Given the description of an element on the screen output the (x, y) to click on. 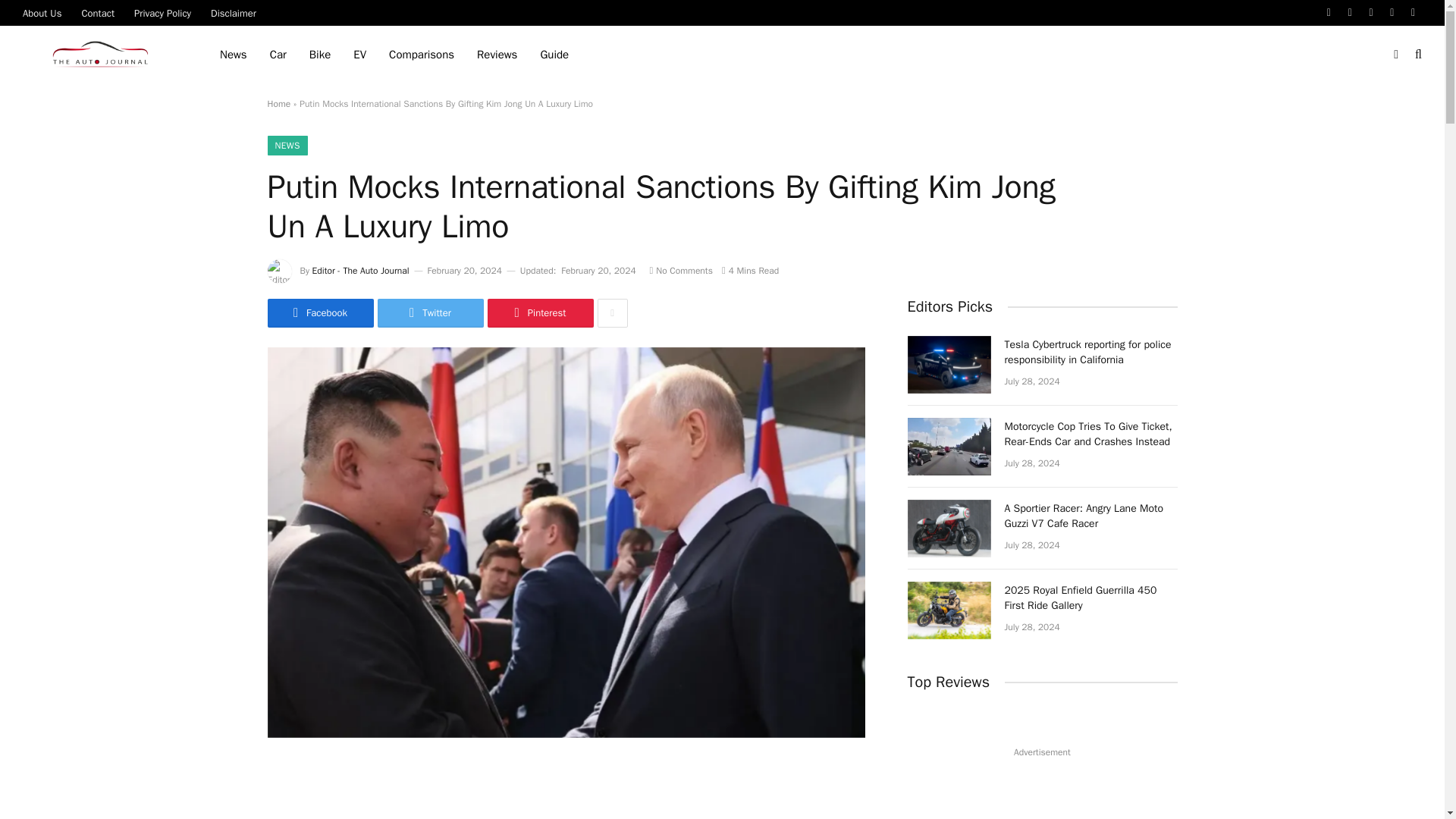
Privacy Policy (161, 12)
Reviews (496, 54)
Disclaimer (233, 12)
Pinterest (1391, 12)
Home (277, 103)
Guide (553, 54)
Posts by Editor - The Auto Journal (361, 270)
EV (359, 54)
News (233, 54)
About Us (42, 12)
Comparisons (421, 54)
Instagram (1371, 12)
Car (278, 54)
Facebook (1329, 12)
